Given the description of an element on the screen output the (x, y) to click on. 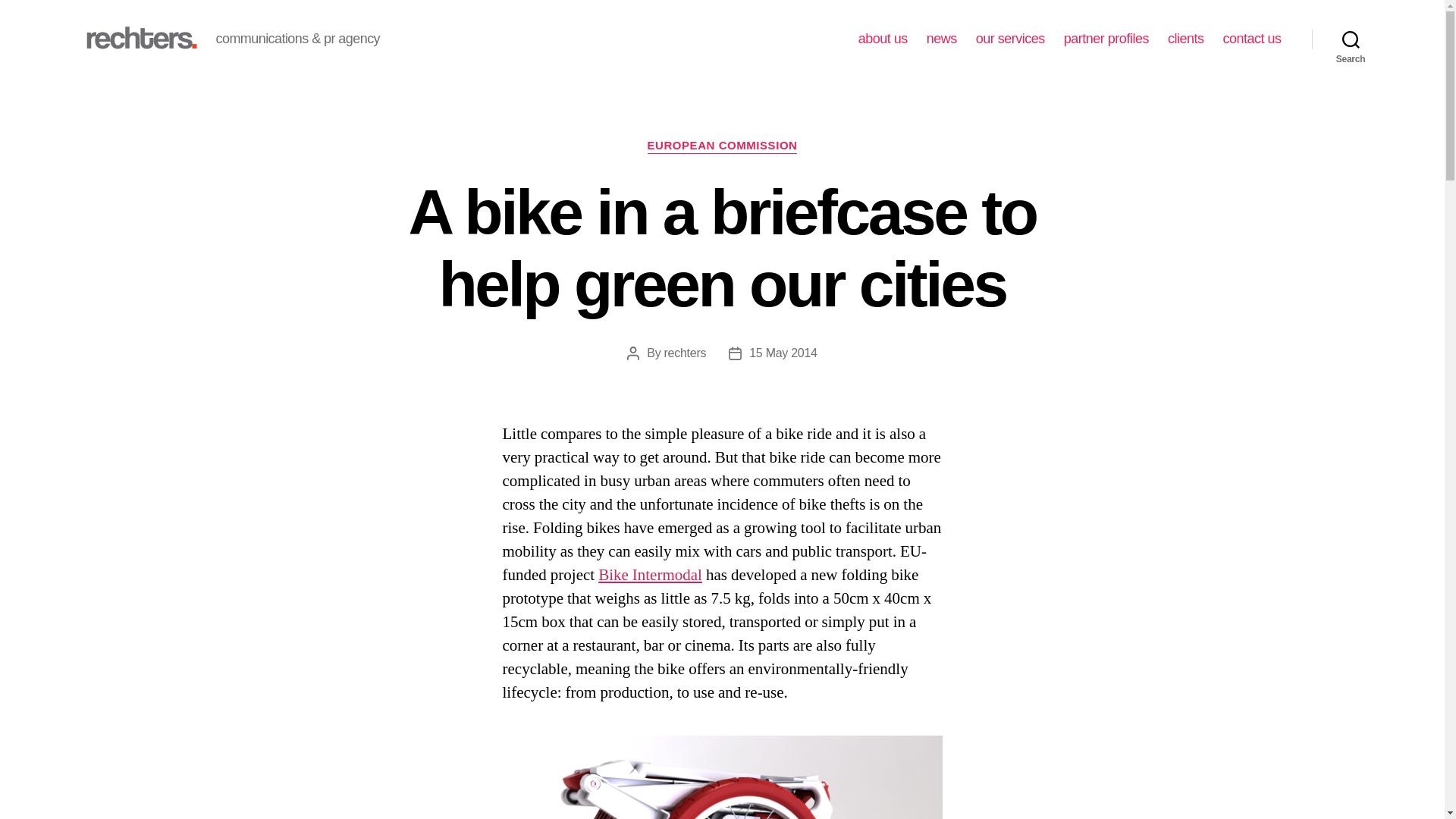
our services (1010, 39)
news (941, 39)
EUROPEAN COMMISSION (722, 145)
15 May 2014 (782, 352)
Bike Intermodal (649, 575)
Search (1350, 39)
contact us (1252, 39)
clients (1185, 39)
rechters (684, 352)
about us (883, 39)
